Given the description of an element on the screen output the (x, y) to click on. 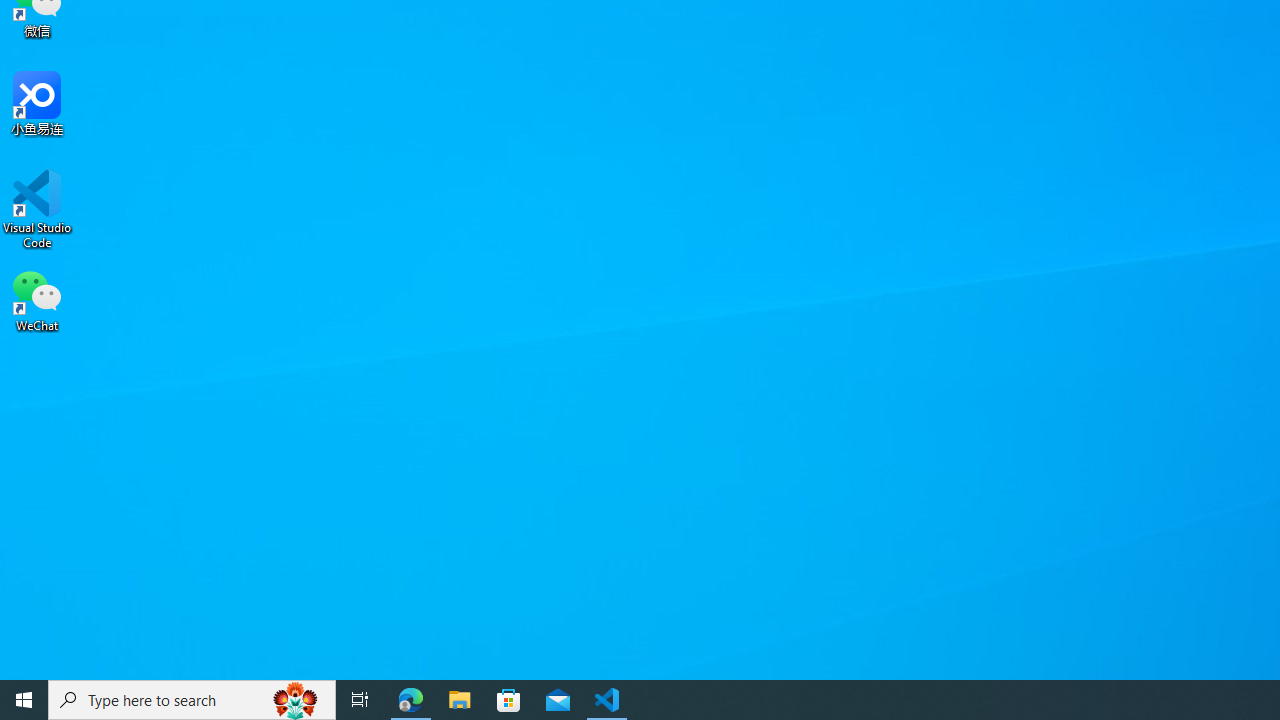
Start (24, 699)
Search highlights icon opens search home window (295, 699)
Task View (359, 699)
Visual Studio Code - 1 running window (607, 699)
Visual Studio Code (37, 209)
WeChat (37, 299)
Type here to search (191, 699)
Microsoft Edge - 1 running window (411, 699)
Microsoft Store (509, 699)
File Explorer (460, 699)
